Given the description of an element on the screen output the (x, y) to click on. 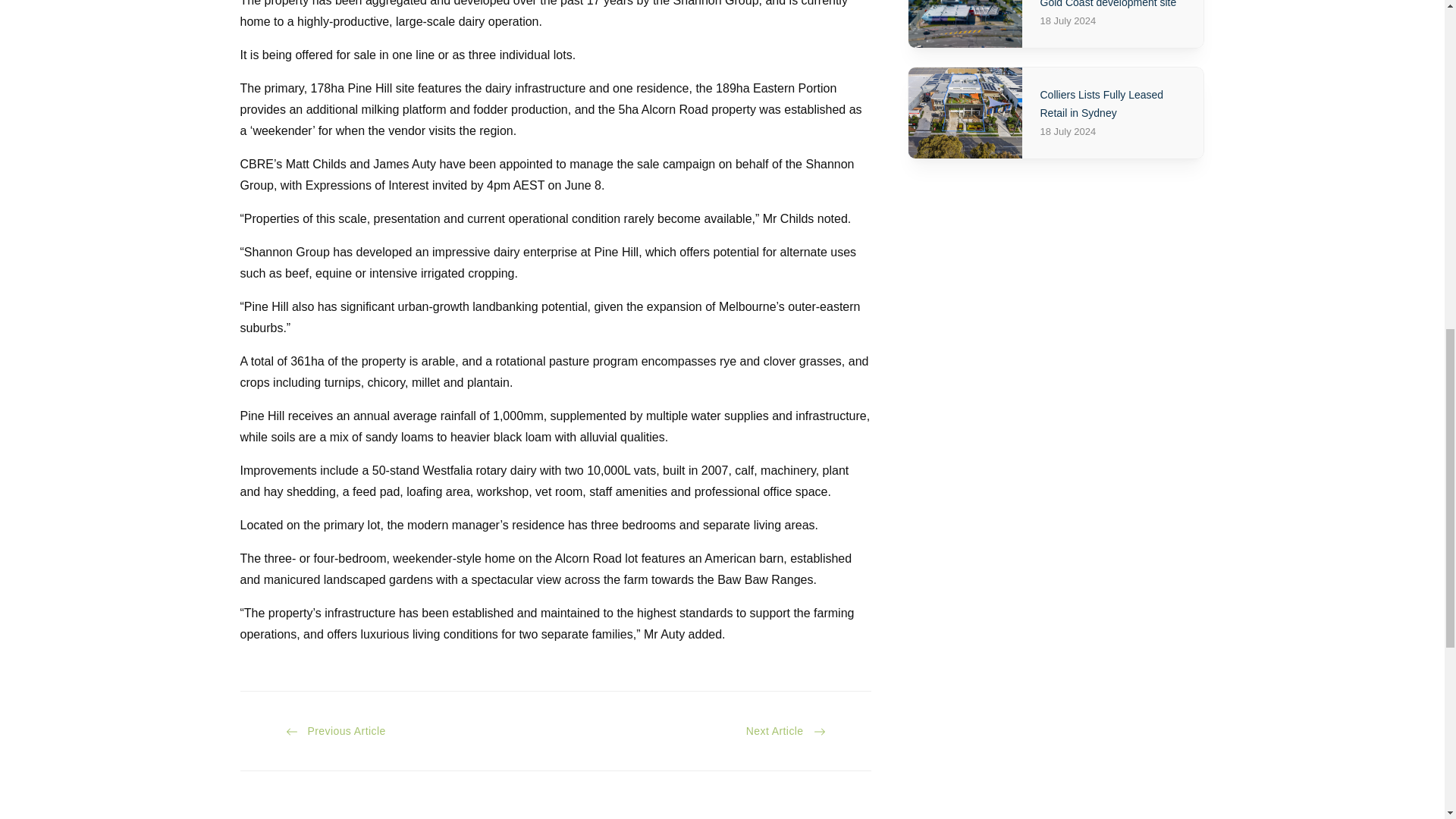
Colliers Lists Fully Leased Retail in Sydney (965, 112)
